Given the description of an element on the screen output the (x, y) to click on. 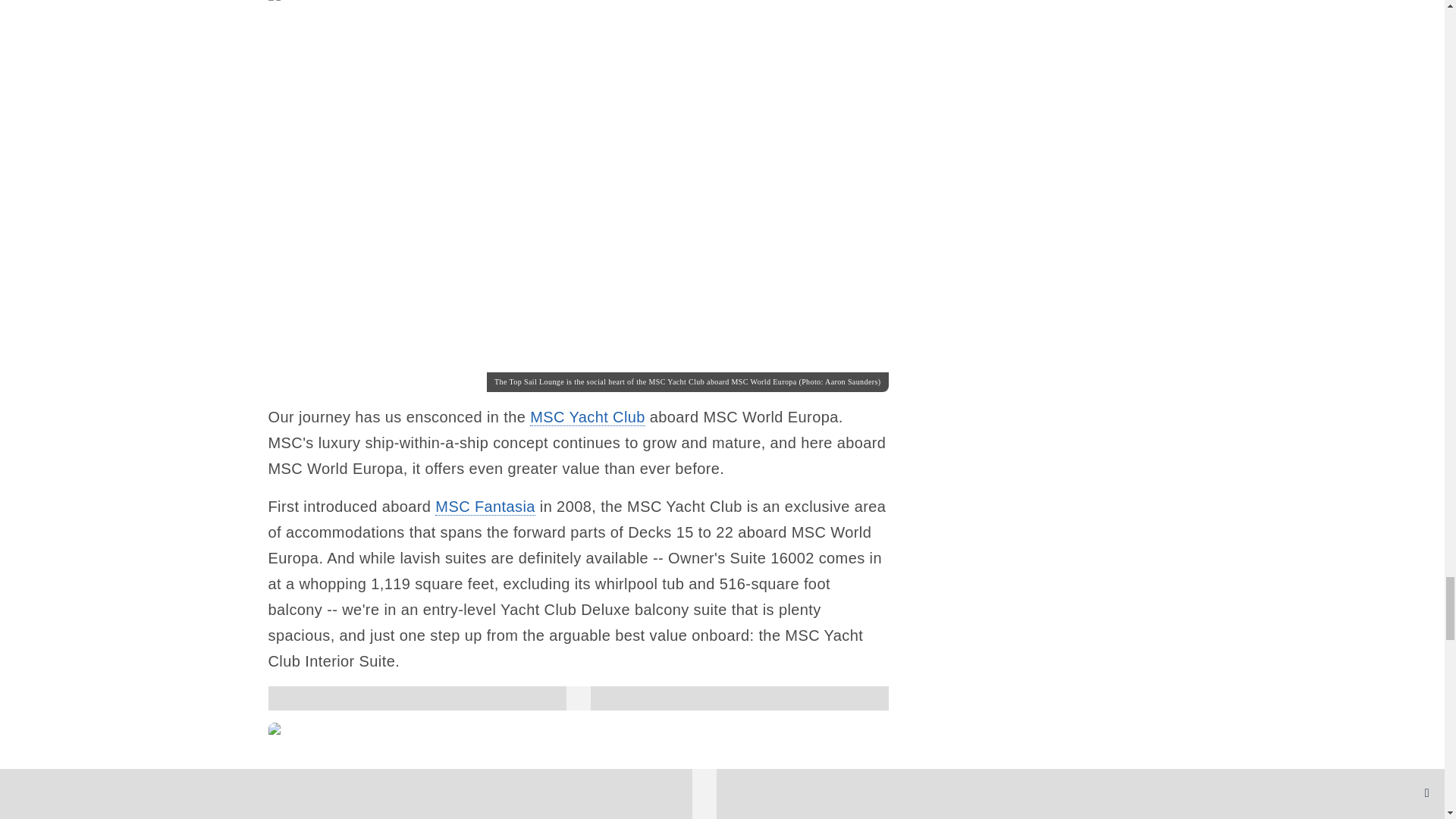
MSC Yacht Club (587, 416)
MSC Fantasia (485, 506)
